Given the description of an element on the screen output the (x, y) to click on. 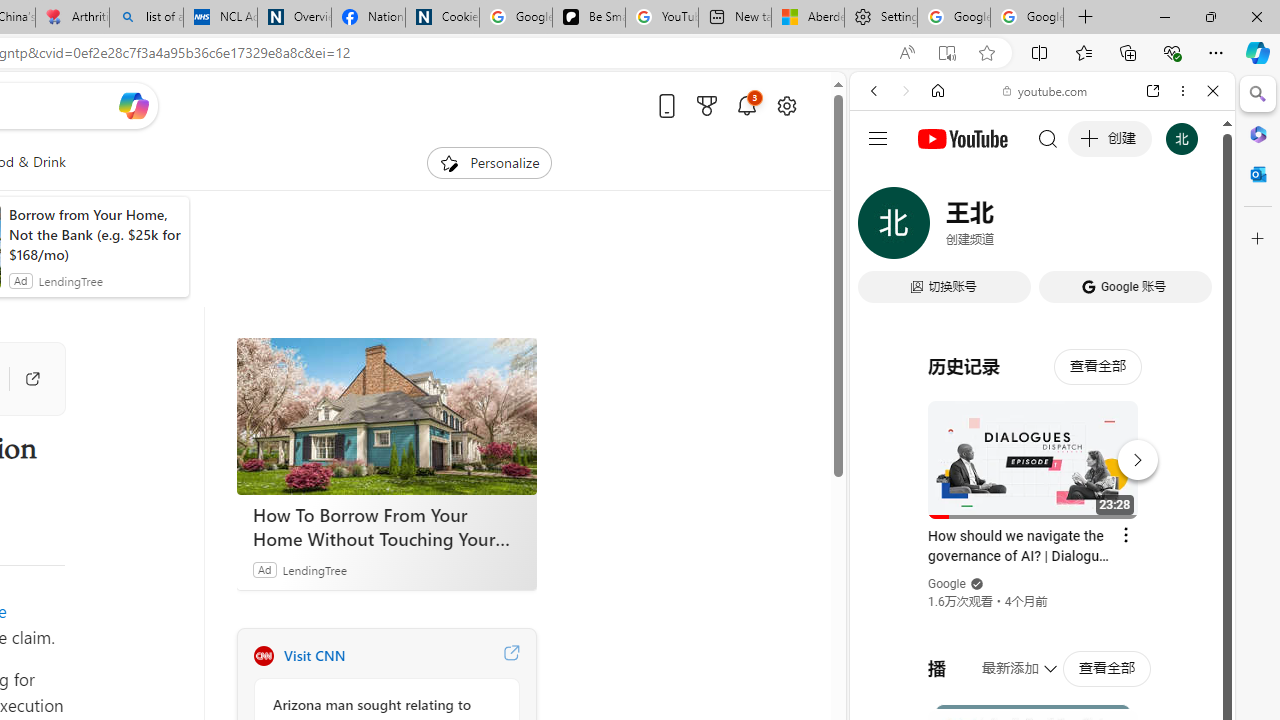
Trailer #2 [HD] (1042, 594)
Close Customize pane (1258, 239)
Open Copilot (132, 105)
WEB   (882, 228)
LendingTree (313, 569)
Forward (906, 91)
Show More Music (1164, 546)
Search Filter, WEB (882, 228)
